Given the description of an element on the screen output the (x, y) to click on. 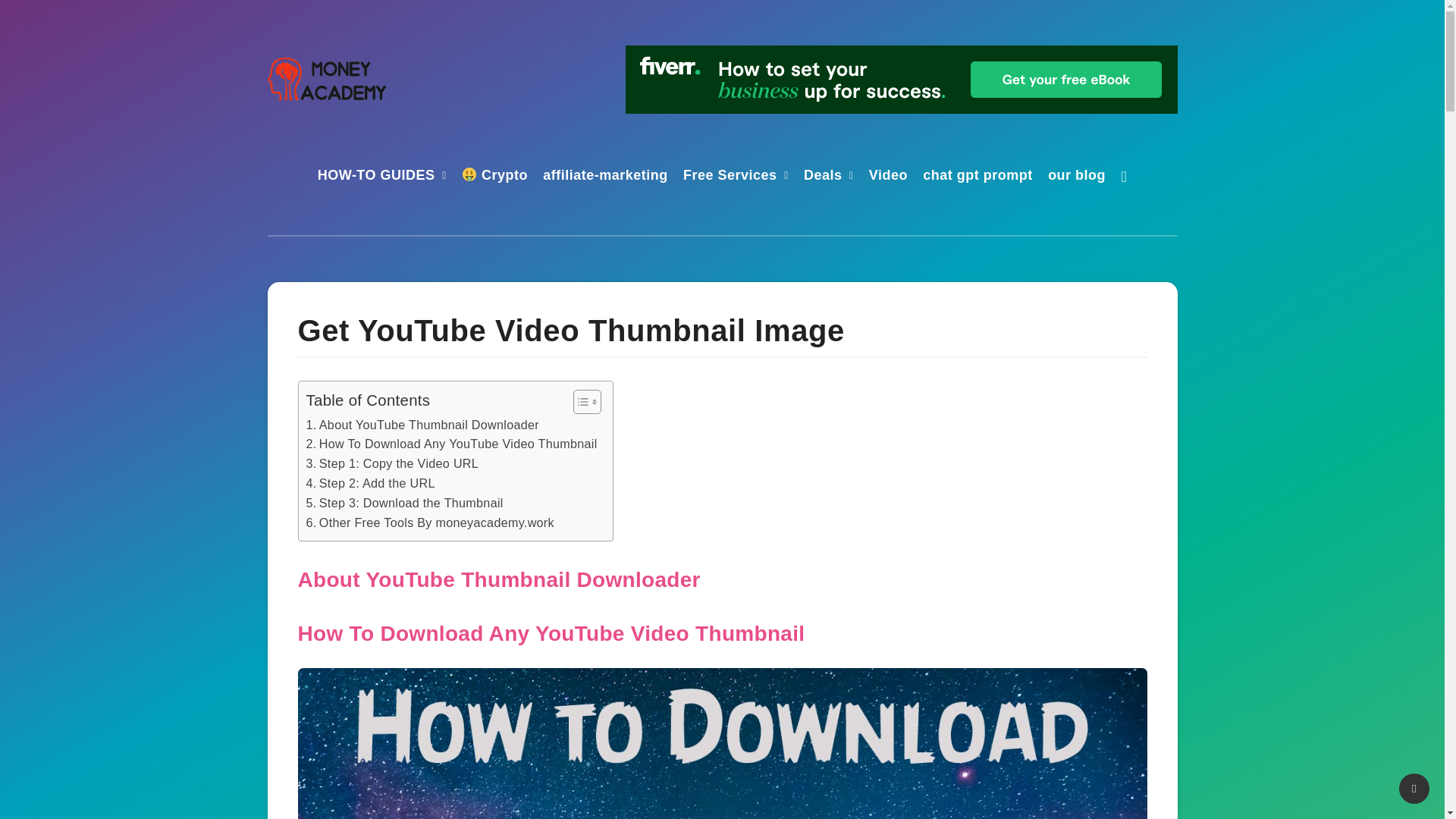
Deals (823, 177)
HOW-TO GUIDES (376, 177)
Free Services (729, 177)
About YouTube Thumbnail Downloader (421, 424)
To Download Any YouTube Video Thumbnail (577, 633)
How To Download Any YouTube Video Thumbnail (450, 444)
affiliate-marketing (605, 177)
How To Download Any YouTube Video Thumbnail (450, 444)
Video (888, 177)
Step 3: Download the Thumbnail (404, 503)
